Given the description of an element on the screen output the (x, y) to click on. 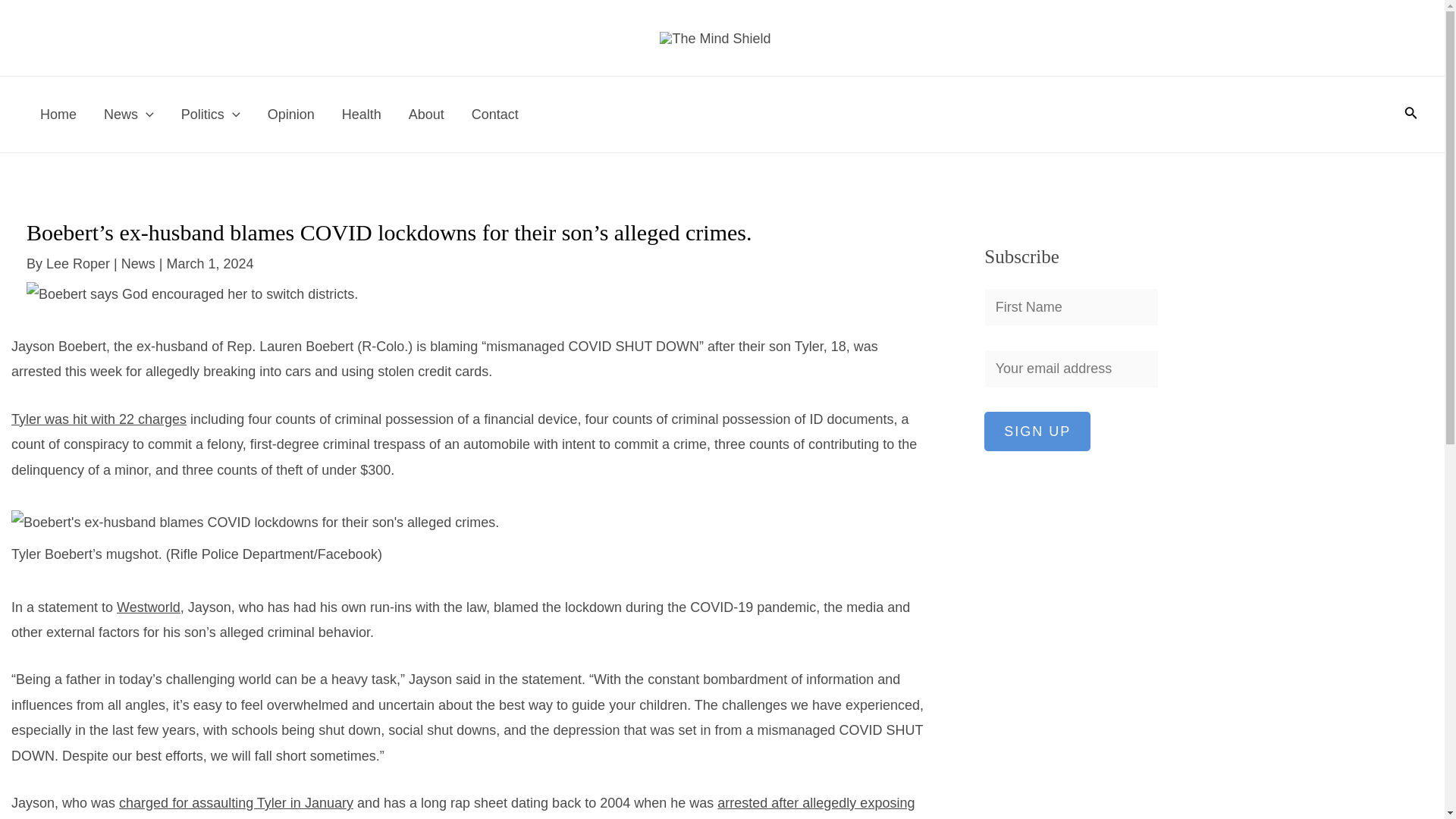
News (128, 114)
News (137, 263)
Contact (495, 114)
arrested after allegedly exposing his penis (462, 807)
Opinion (291, 114)
Lee Roper (79, 263)
View all posts by Lee Roper (79, 263)
Westworld (148, 607)
charged for assaulting Tyler in January (236, 802)
Sign up (1037, 431)
Tyler was hit with 22 charges (98, 418)
Politics (210, 114)
Sign up (1037, 431)
